Given the description of an element on the screen output the (x, y) to click on. 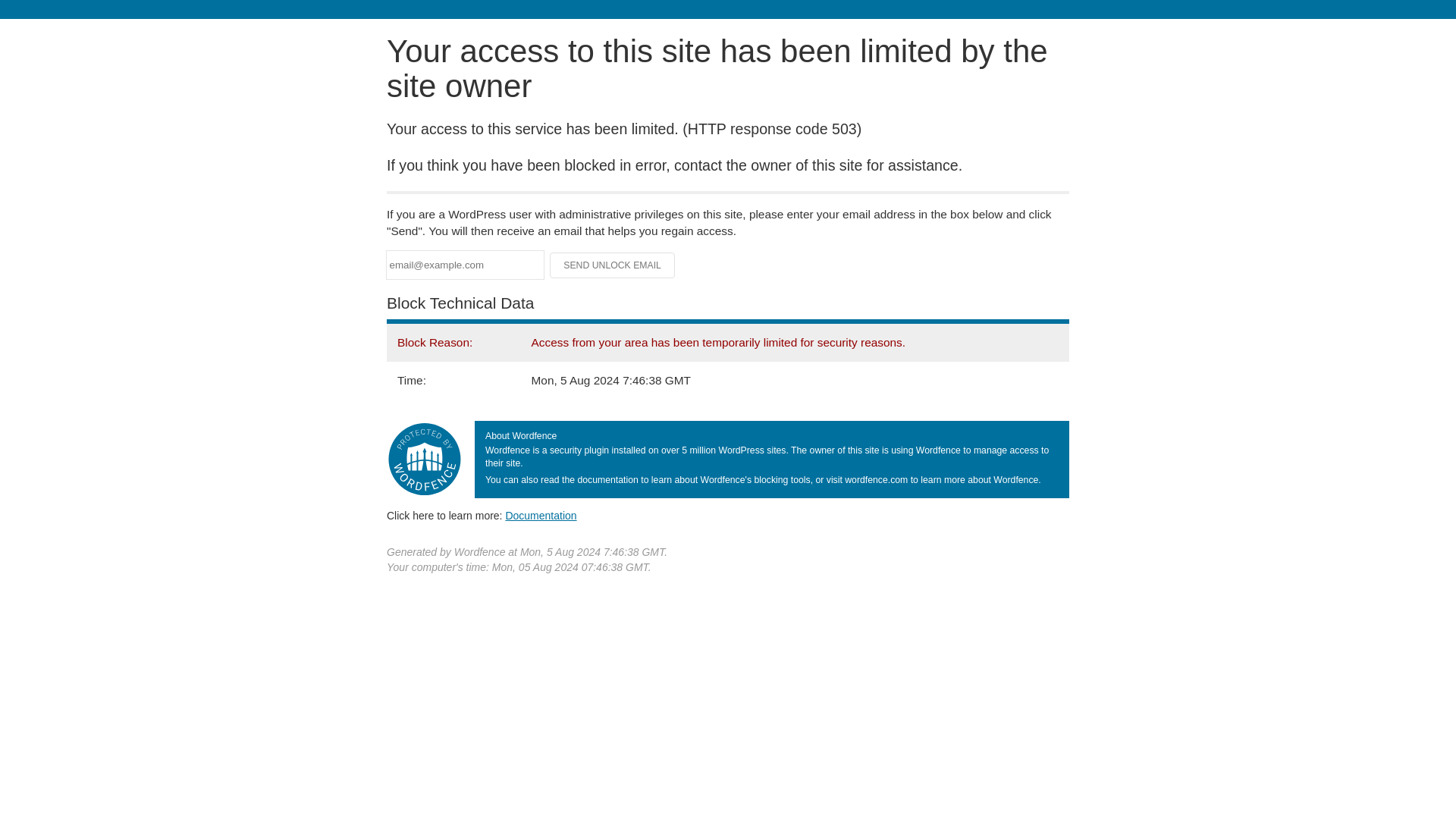
Send Unlock Email (612, 265)
Documentation (540, 515)
Send Unlock Email (612, 265)
